Given the description of an element on the screen output the (x, y) to click on. 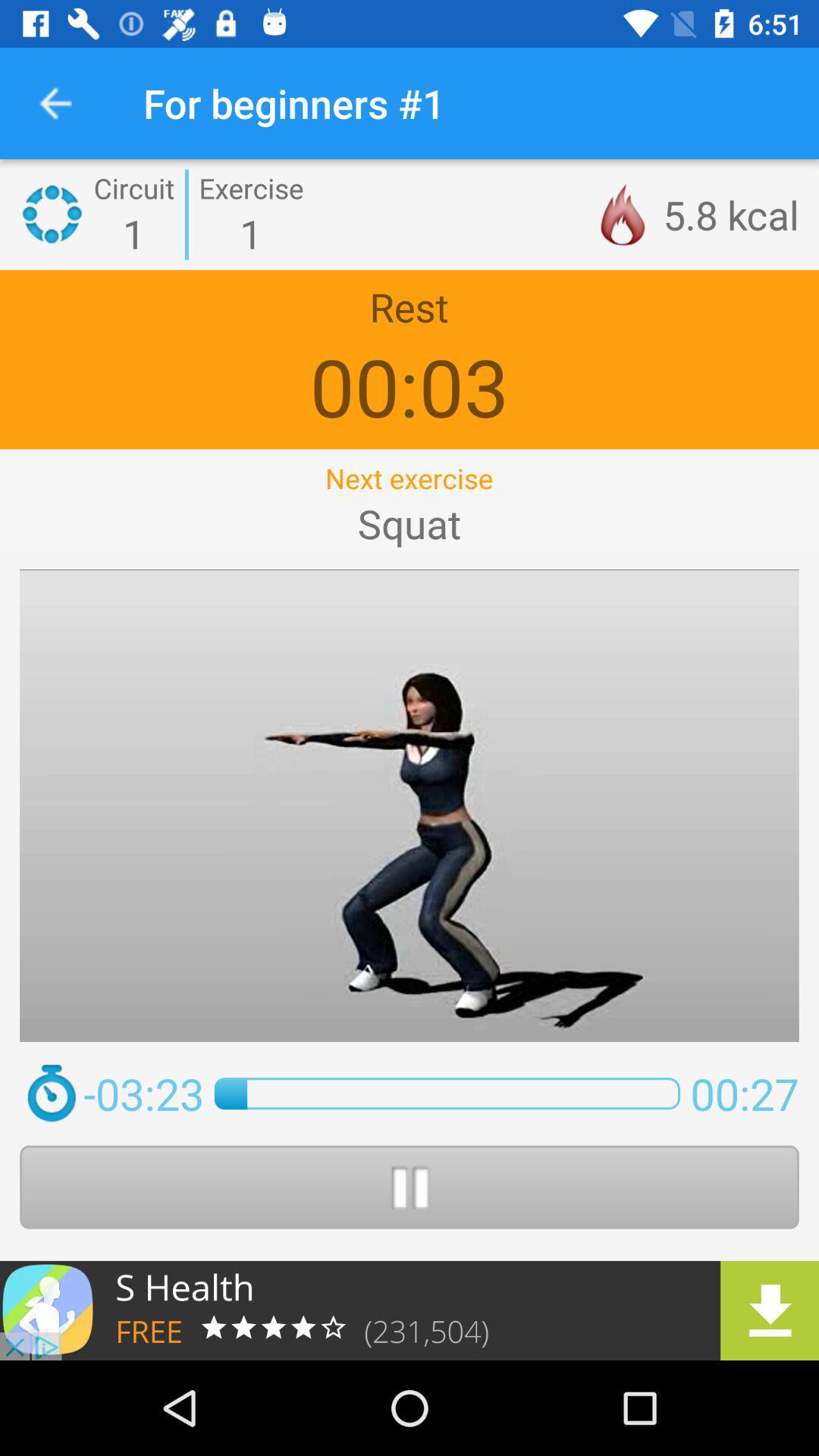
download app in banner advertisement (409, 1310)
